Given the description of an element on the screen output the (x, y) to click on. 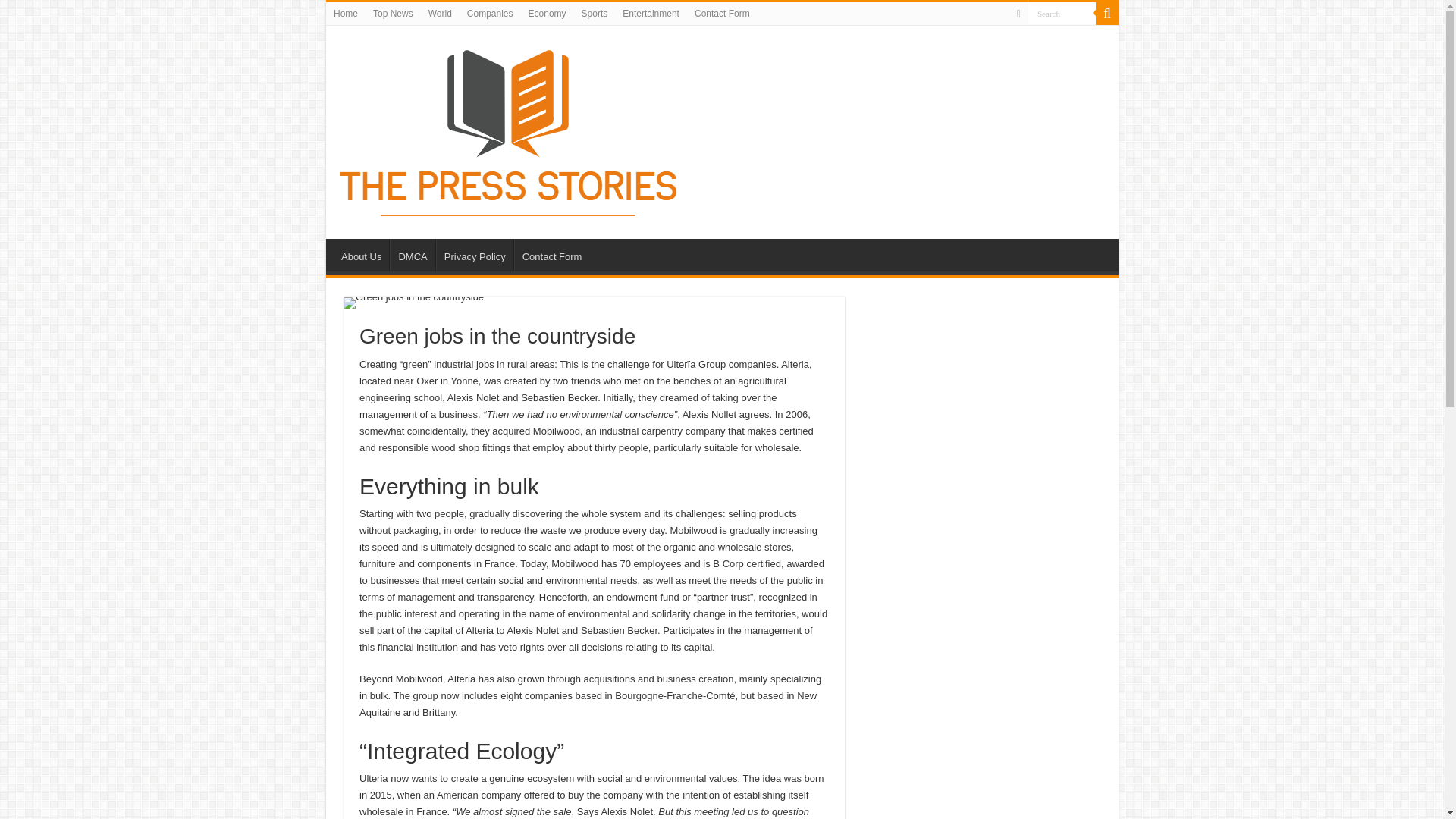
DMCA (411, 255)
Search (1107, 13)
Contact Form (722, 13)
Entertainment (650, 13)
Companies (490, 13)
Economy (547, 13)
Privacy Policy (474, 255)
Search (1061, 13)
The Press Stories (509, 129)
Top News (392, 13)
Search (1061, 13)
About Us (360, 255)
Sports (594, 13)
Home (345, 13)
World (440, 13)
